Given the description of an element on the screen output the (x, y) to click on. 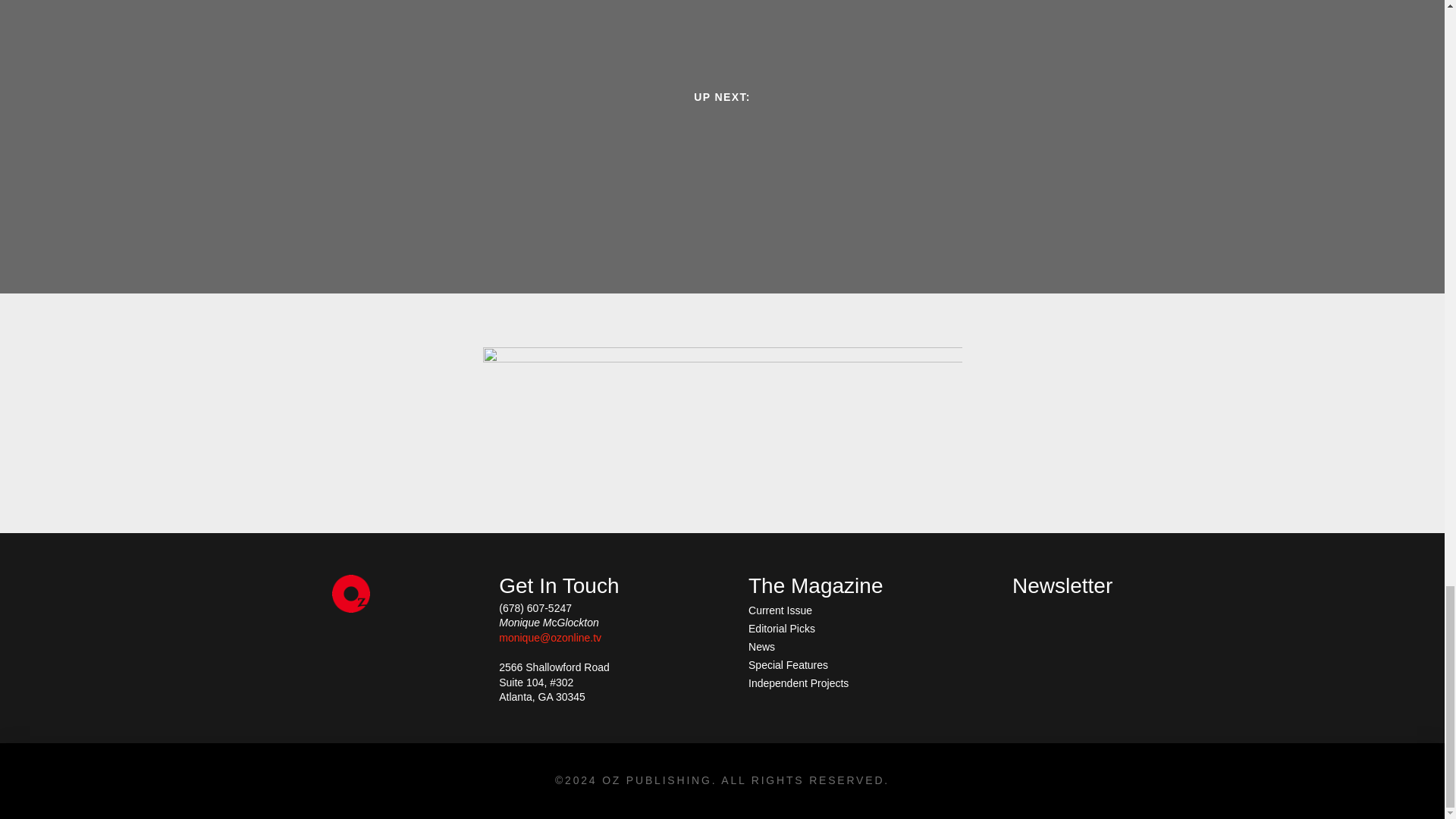
Independent Projects (798, 683)
Editorial Picks (781, 628)
Special Features (788, 665)
News (761, 647)
Current Issue (780, 610)
